Given the description of an element on the screen output the (x, y) to click on. 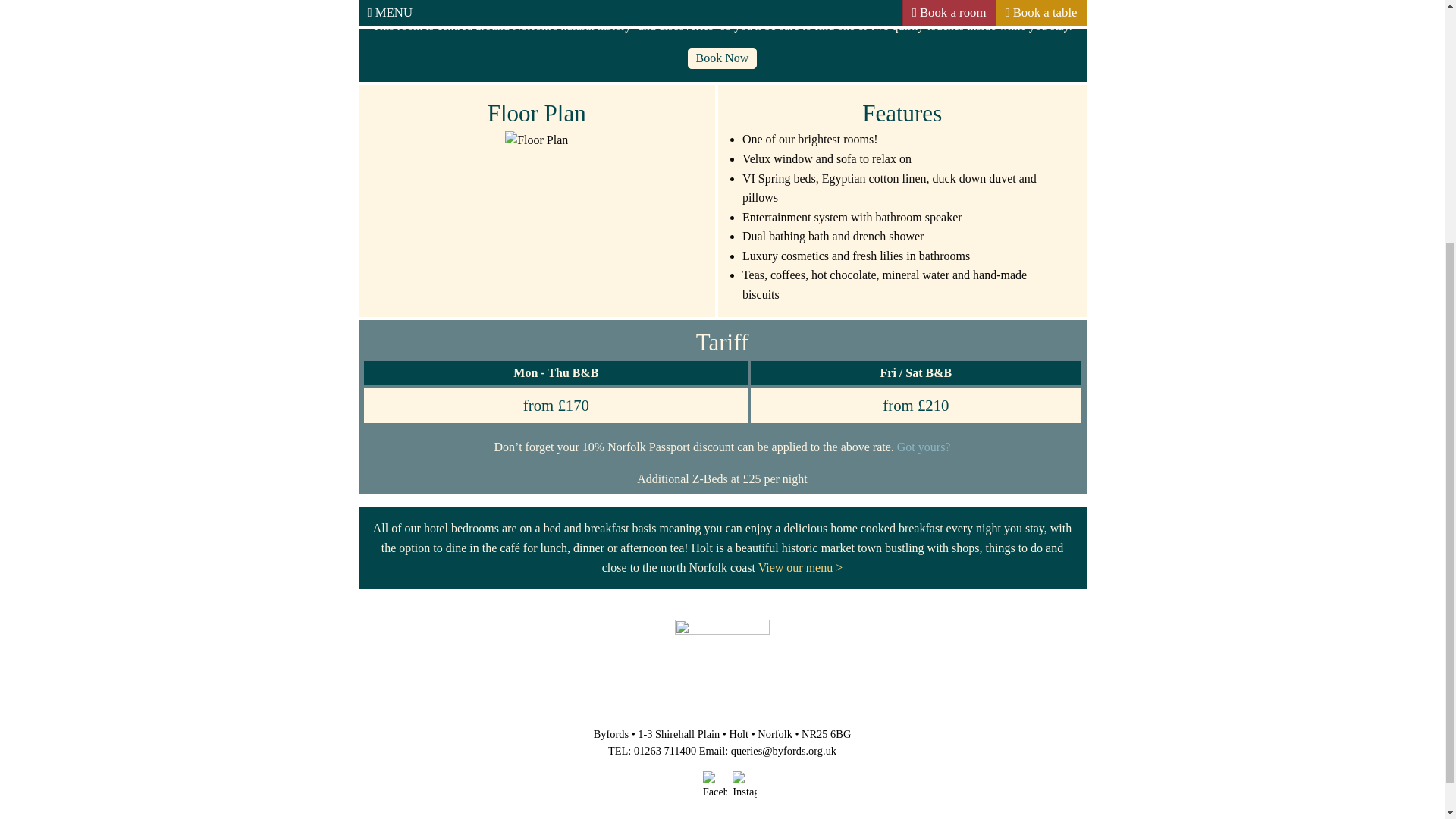
Book Now (722, 57)
Got yours? (923, 446)
01263 711400 (664, 750)
